Given the description of an element on the screen output the (x, y) to click on. 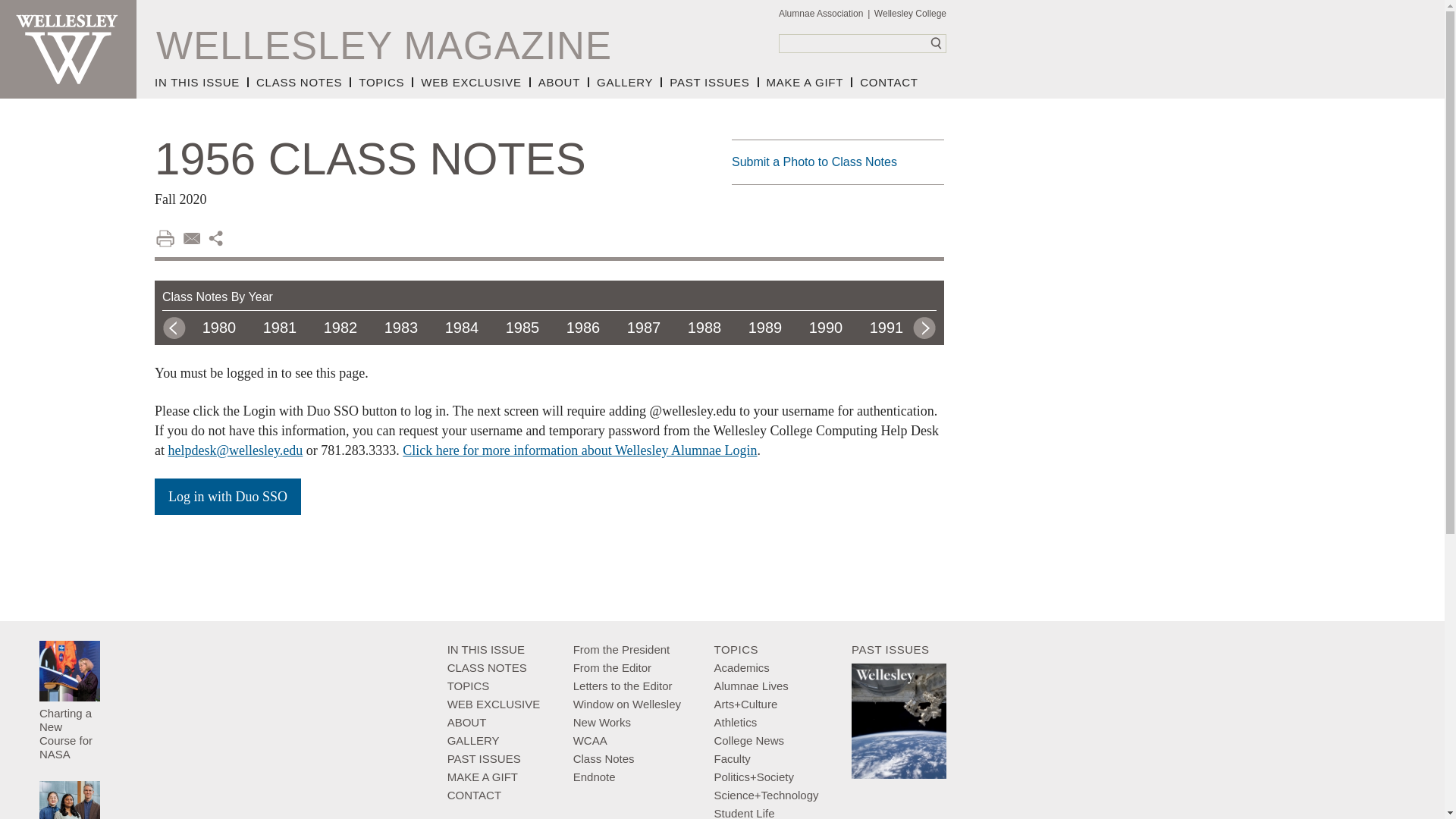
ABOUT (560, 81)
MAKE A GIFT (805, 81)
Home (383, 45)
IN THIS ISSUE (201, 81)
Alumnae Association (824, 13)
Home (68, 49)
PAST ISSUES (710, 81)
Wellesley College (910, 13)
CLASS NOTES (299, 81)
TOPICS (381, 81)
WELLESLEY MAGAZINE (383, 45)
Wellesley College (910, 13)
Alumnae Association (824, 13)
GALLERY (625, 81)
WEB EXCLUSIVE (471, 81)
